Given the description of an element on the screen output the (x, y) to click on. 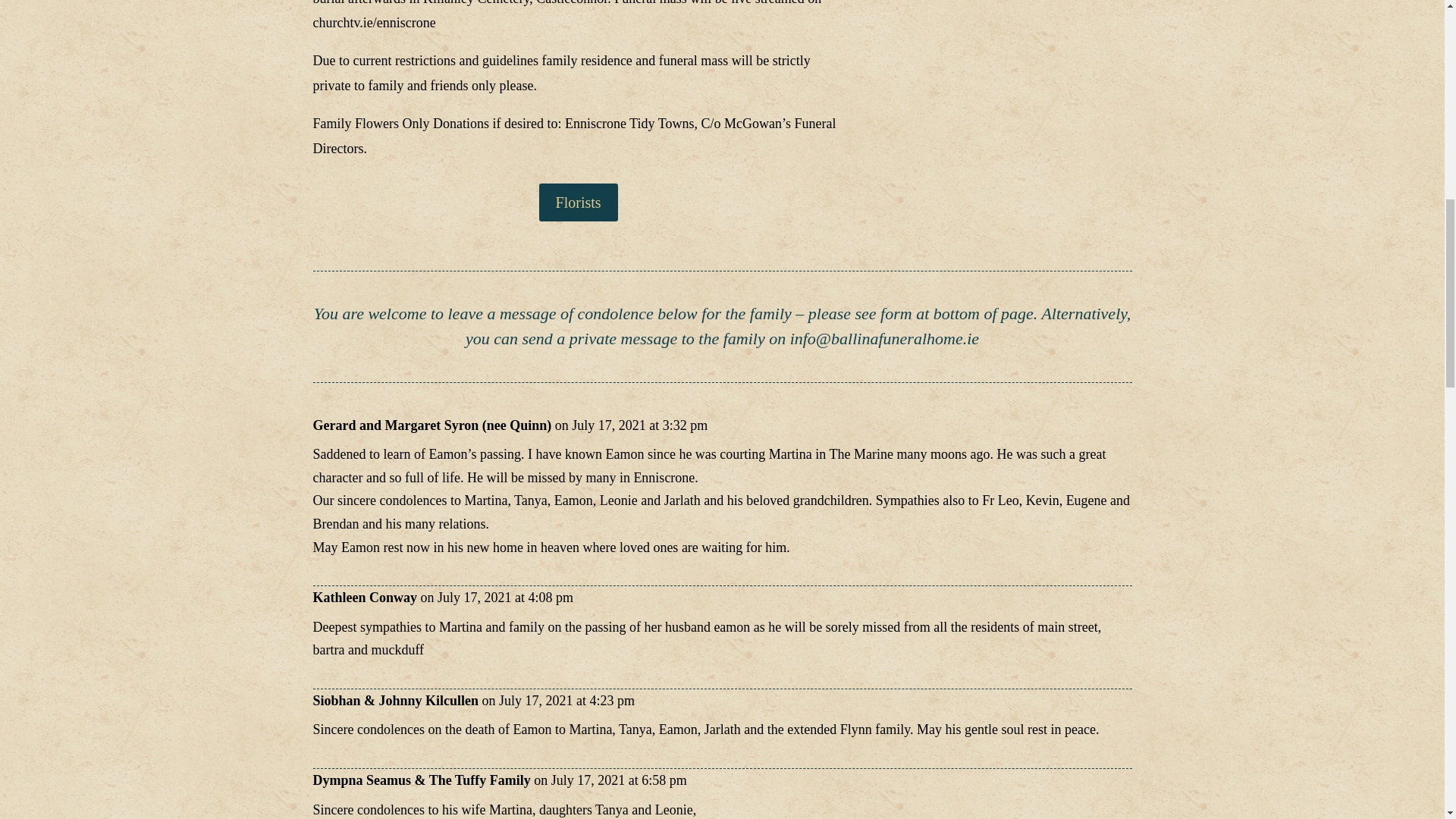
Florists (577, 202)
